Given the description of an element on the screen output the (x, y) to click on. 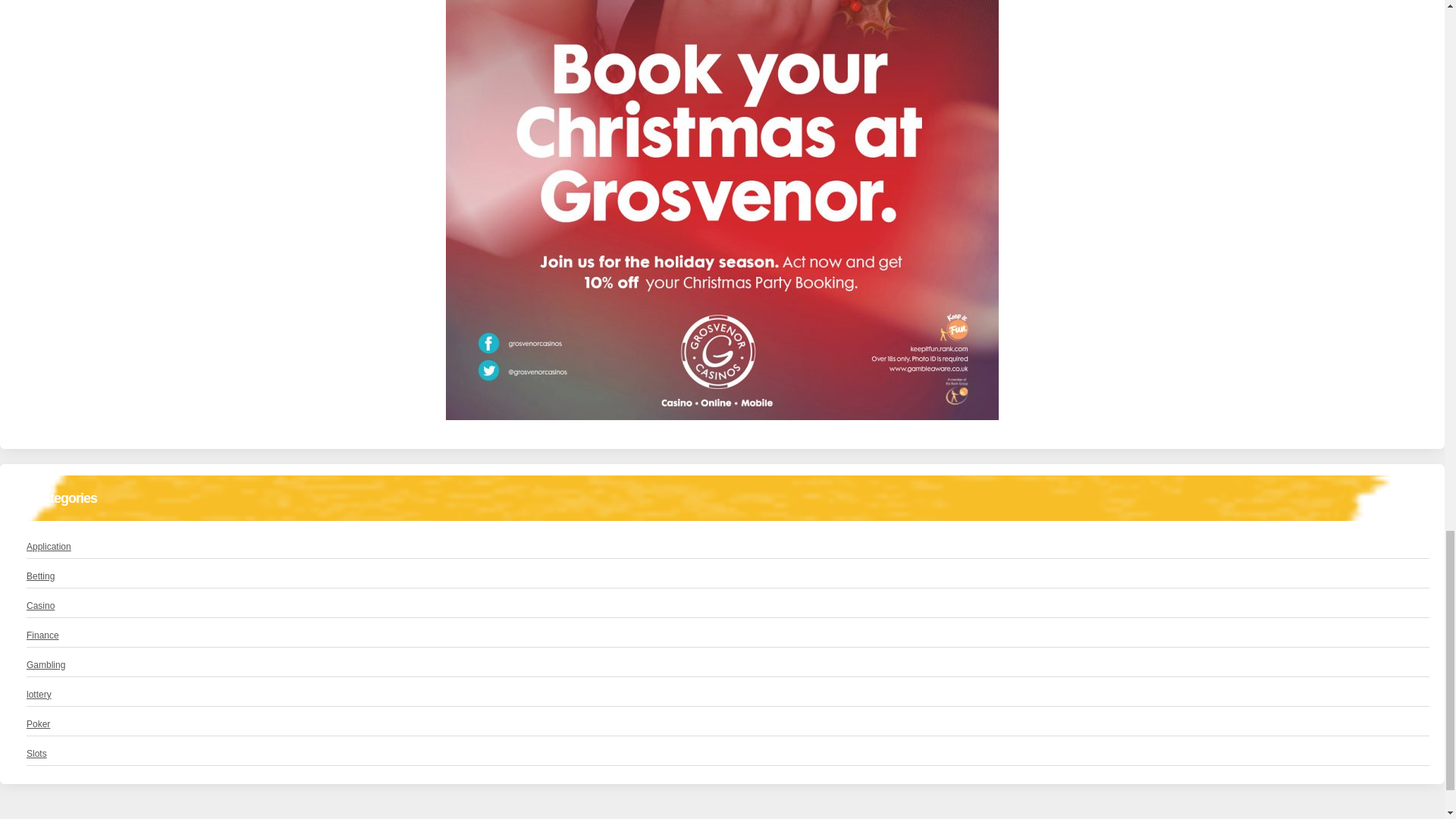
Application (48, 546)
lottery (38, 694)
Finance (42, 635)
Gambling (45, 664)
Slots (36, 753)
Betting (40, 576)
Casino (40, 605)
Poker (37, 724)
